Given the description of an element on the screen output the (x, y) to click on. 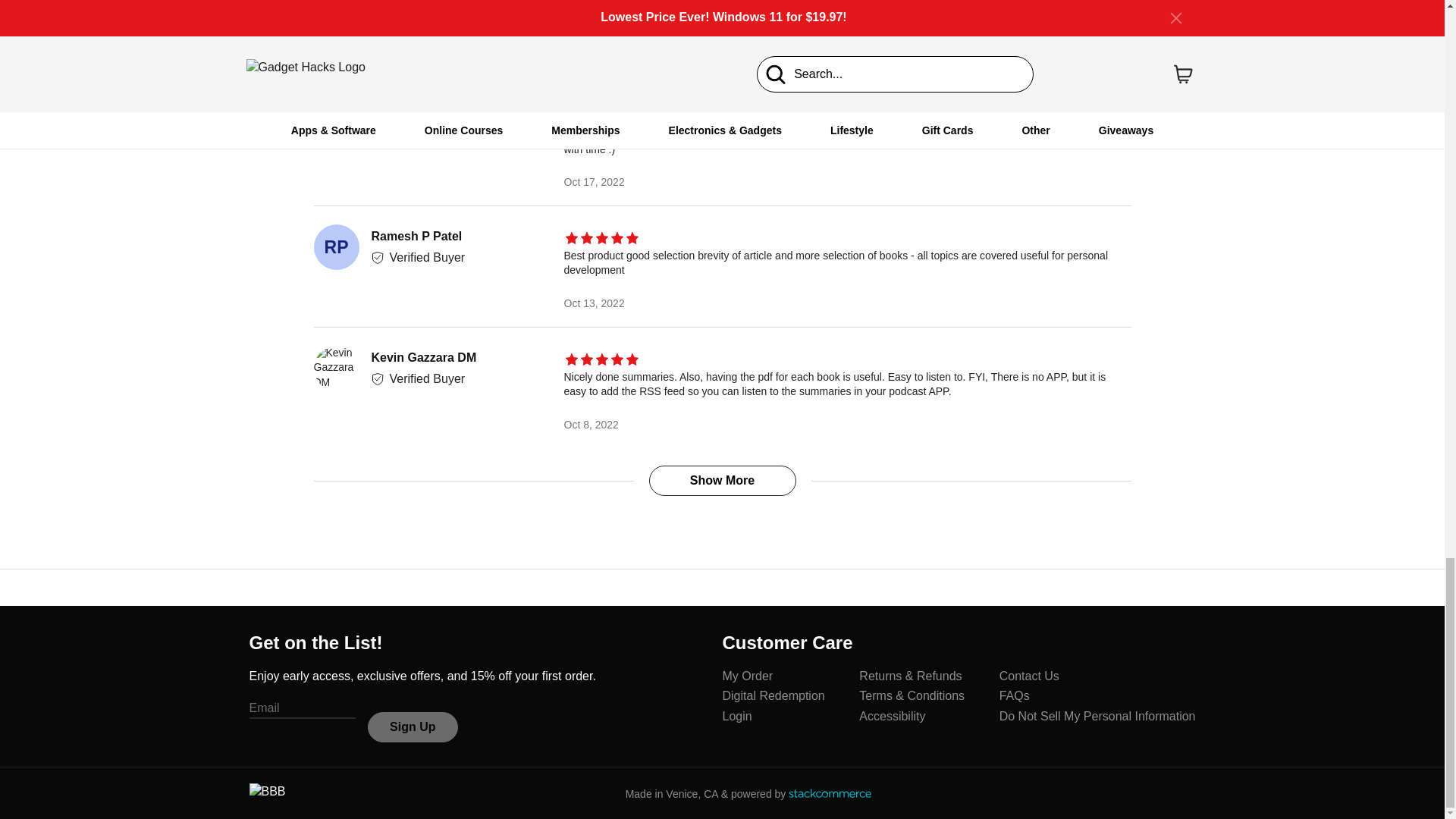
StackCommerce (829, 793)
